Given the description of an element on the screen output the (x, y) to click on. 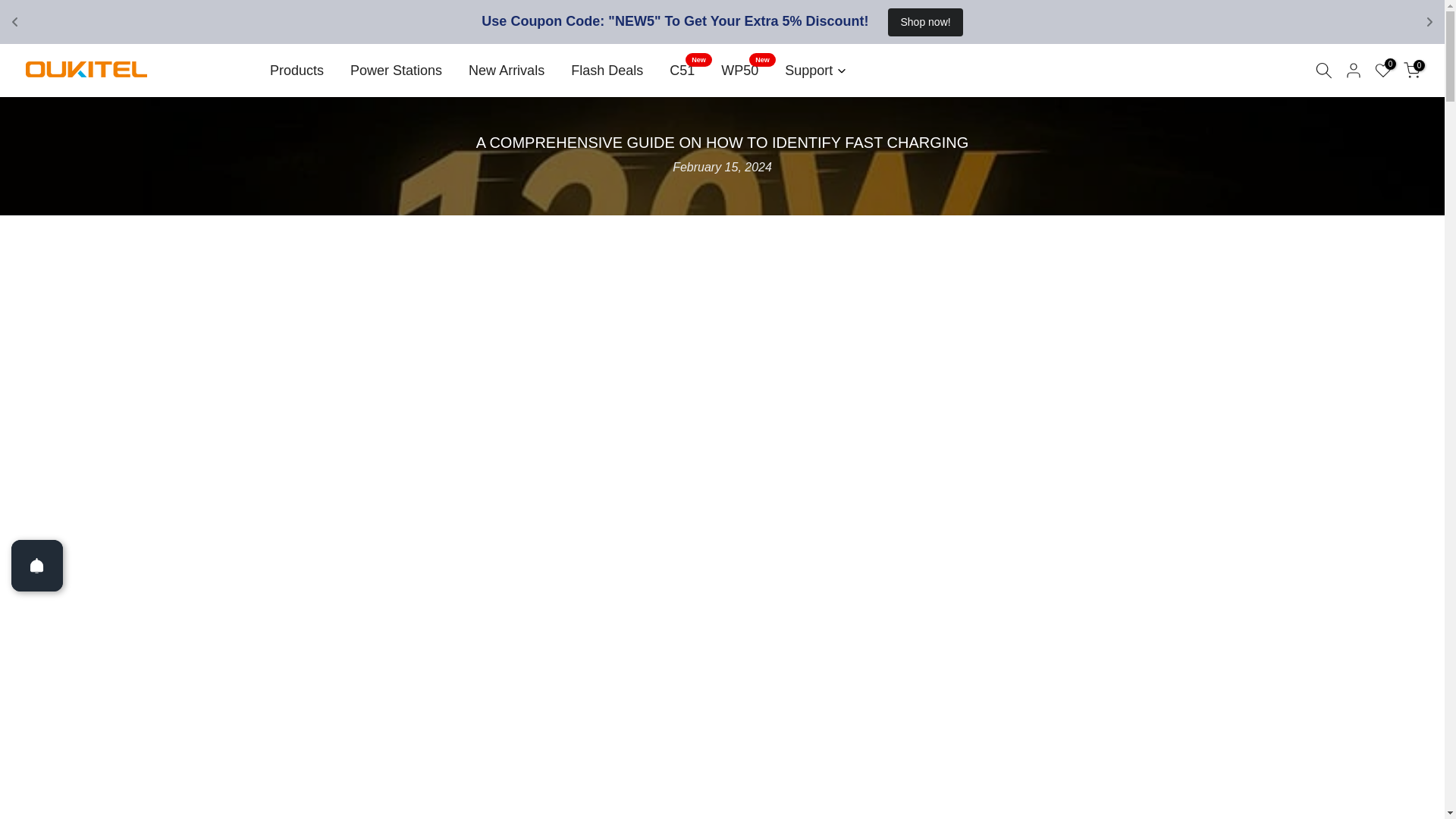
Shop now! (925, 22)
Products (296, 70)
Skip to content (10, 50)
